Given the description of an element on the screen output the (x, y) to click on. 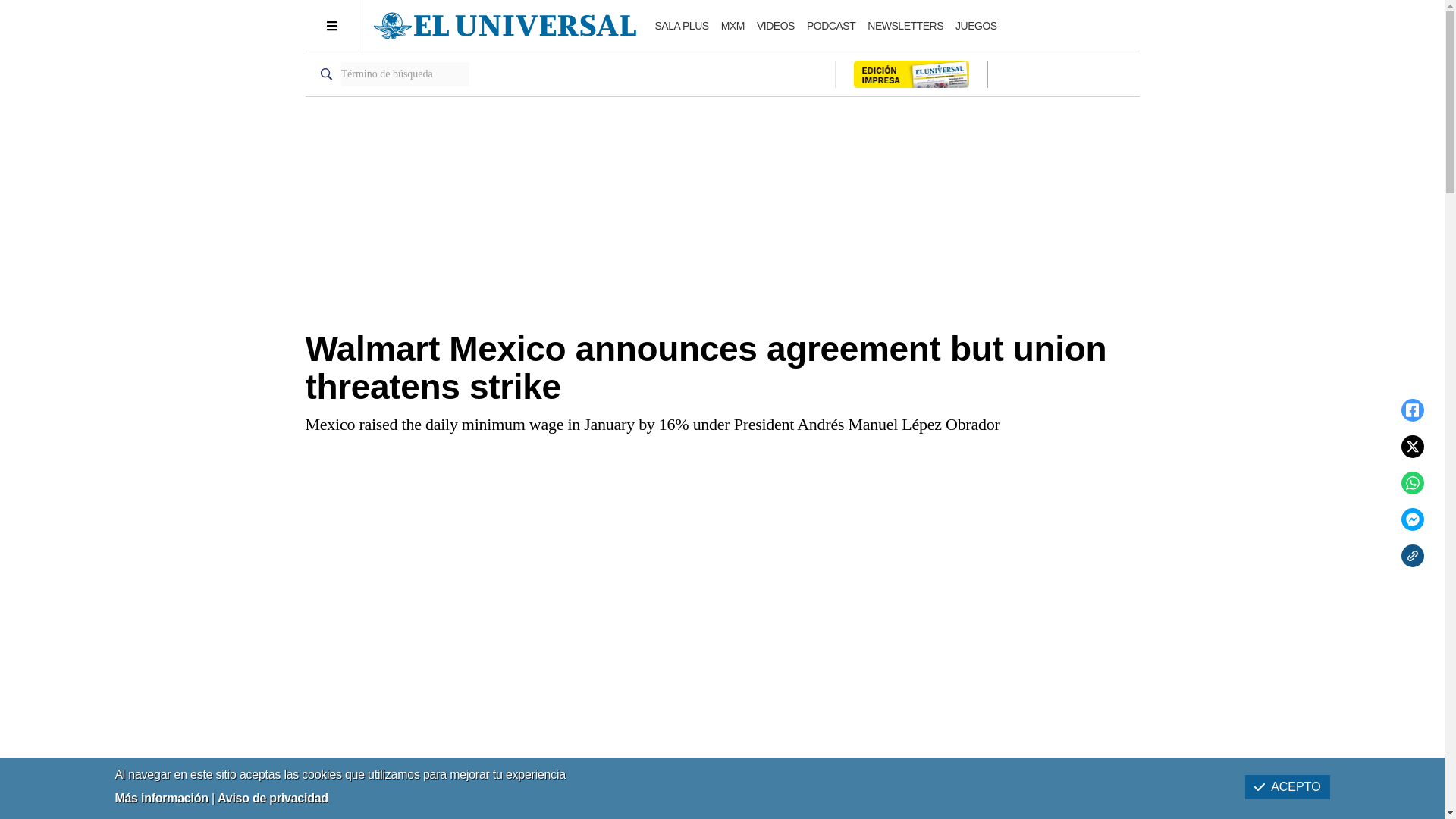
Escriba lo que quiere buscar. (404, 74)
Compartir en facebook (1411, 409)
VIDEOS (775, 25)
Compartir en Messenger (1411, 518)
PODCAST (831, 25)
SALA PLUS (682, 25)
Compartir en X (1411, 445)
MXM (732, 25)
JUEGOS (976, 25)
NEWSLETTERS (905, 25)
